Given the description of an element on the screen output the (x, y) to click on. 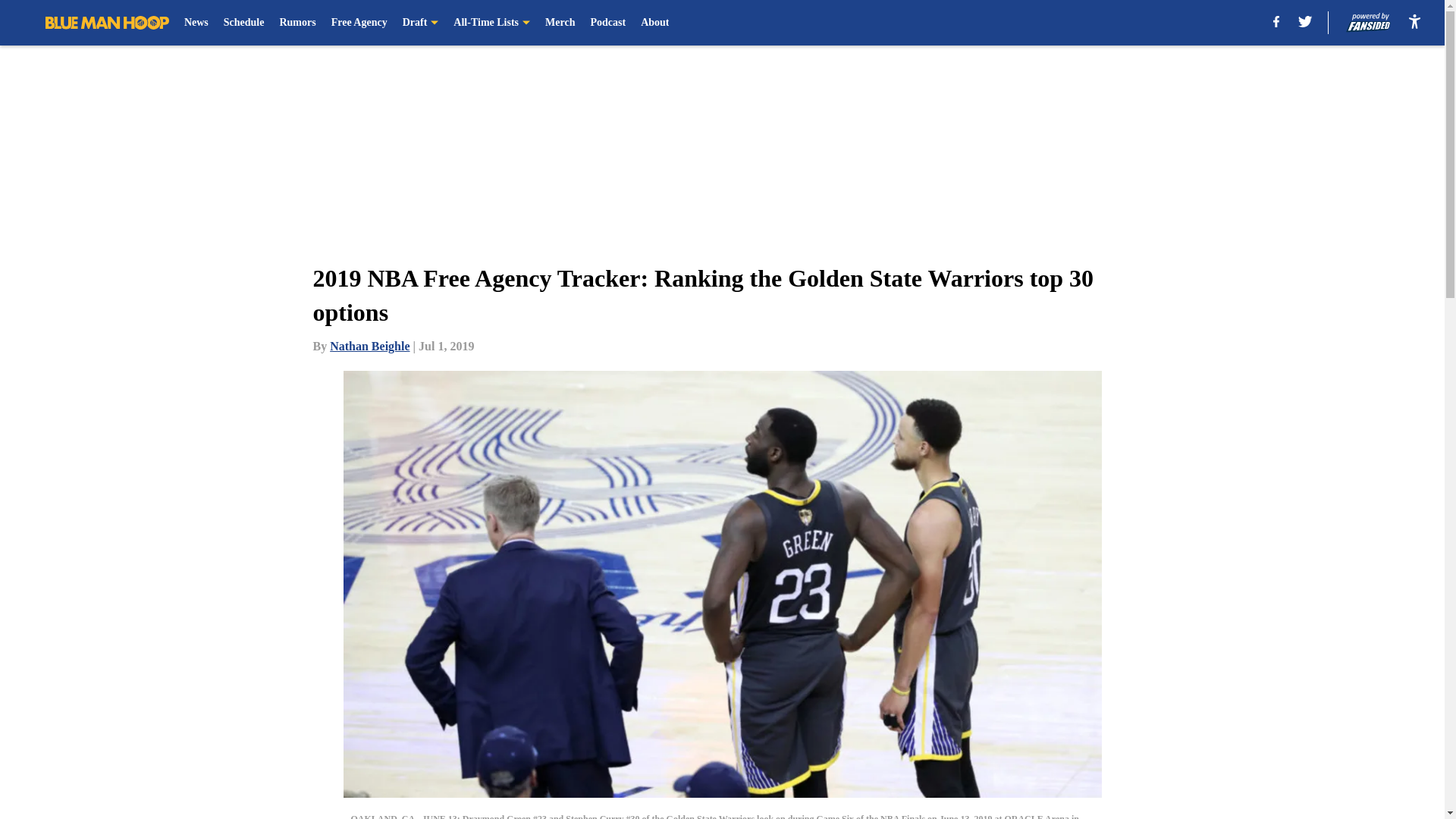
News (196, 22)
Schedule (244, 22)
Draft (421, 22)
Rumors (297, 22)
Podcast (607, 22)
About (654, 22)
Merch (559, 22)
Nathan Beighle (369, 345)
Free Agency (359, 22)
All-Time Lists (490, 22)
